Given the description of an element on the screen output the (x, y) to click on. 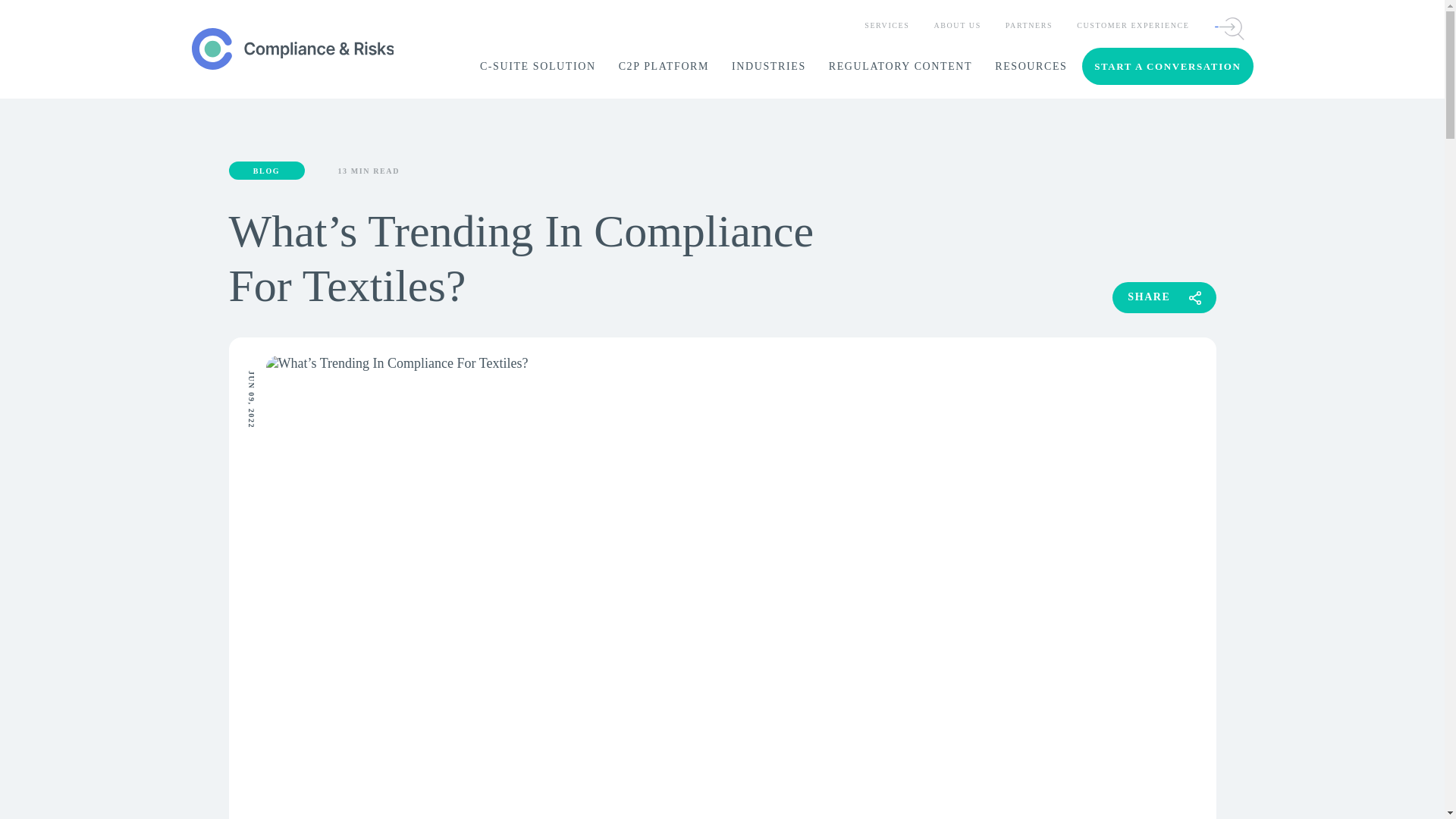
C2P PLATFORM (663, 66)
C-SUITE SOLUTION (537, 66)
INDUSTRIES (769, 66)
REGULATORY CONTENT (900, 66)
